Given the description of an element on the screen output the (x, y) to click on. 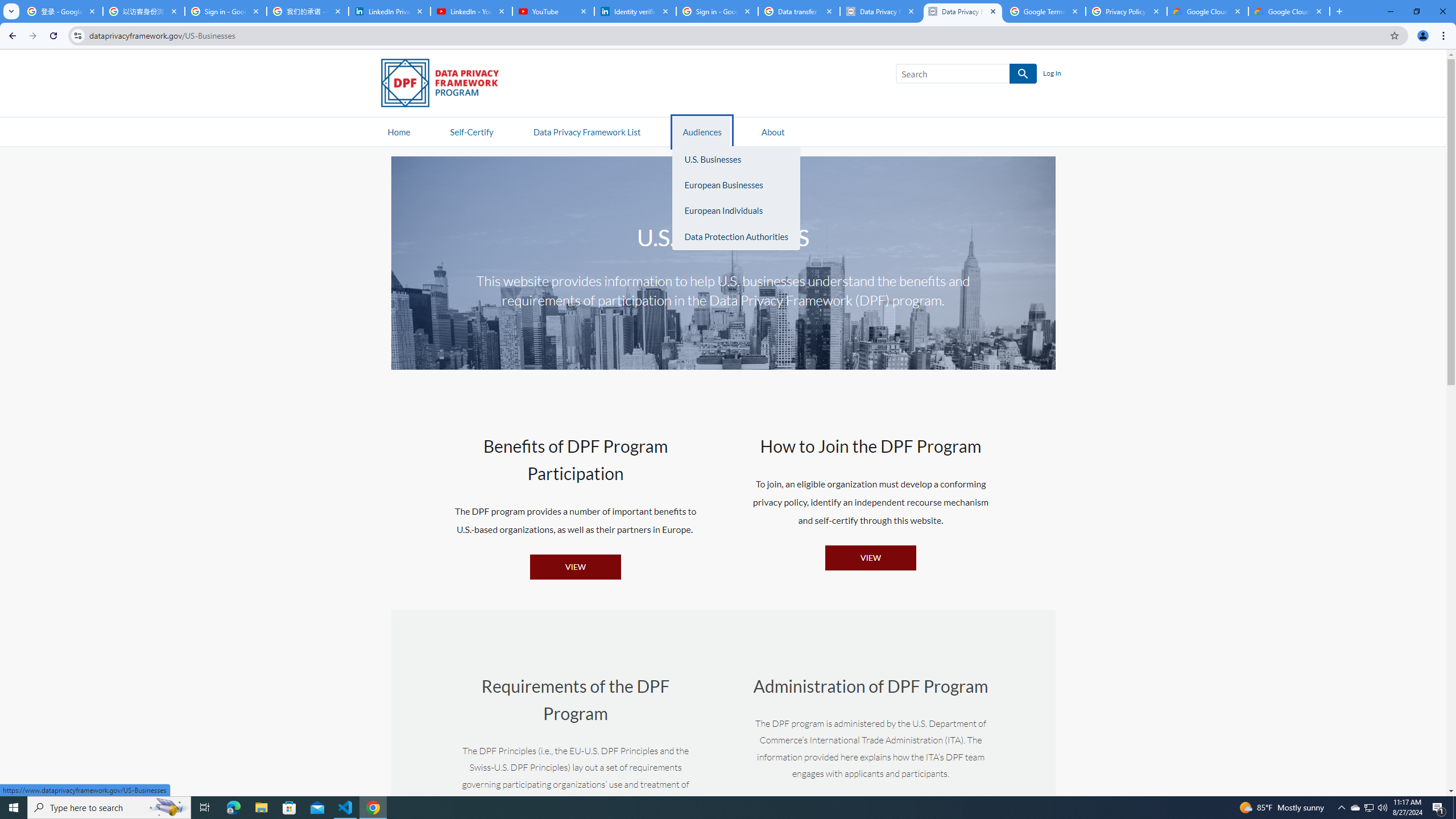
Data Privacy Framework Logo - Link to Homepage (445, 85)
About (772, 131)
Data Protection Authorities (735, 236)
Google Cloud Privacy Notice (1207, 11)
Data Privacy Framework List (586, 131)
Search (952, 73)
